Given the description of an element on the screen output the (x, y) to click on. 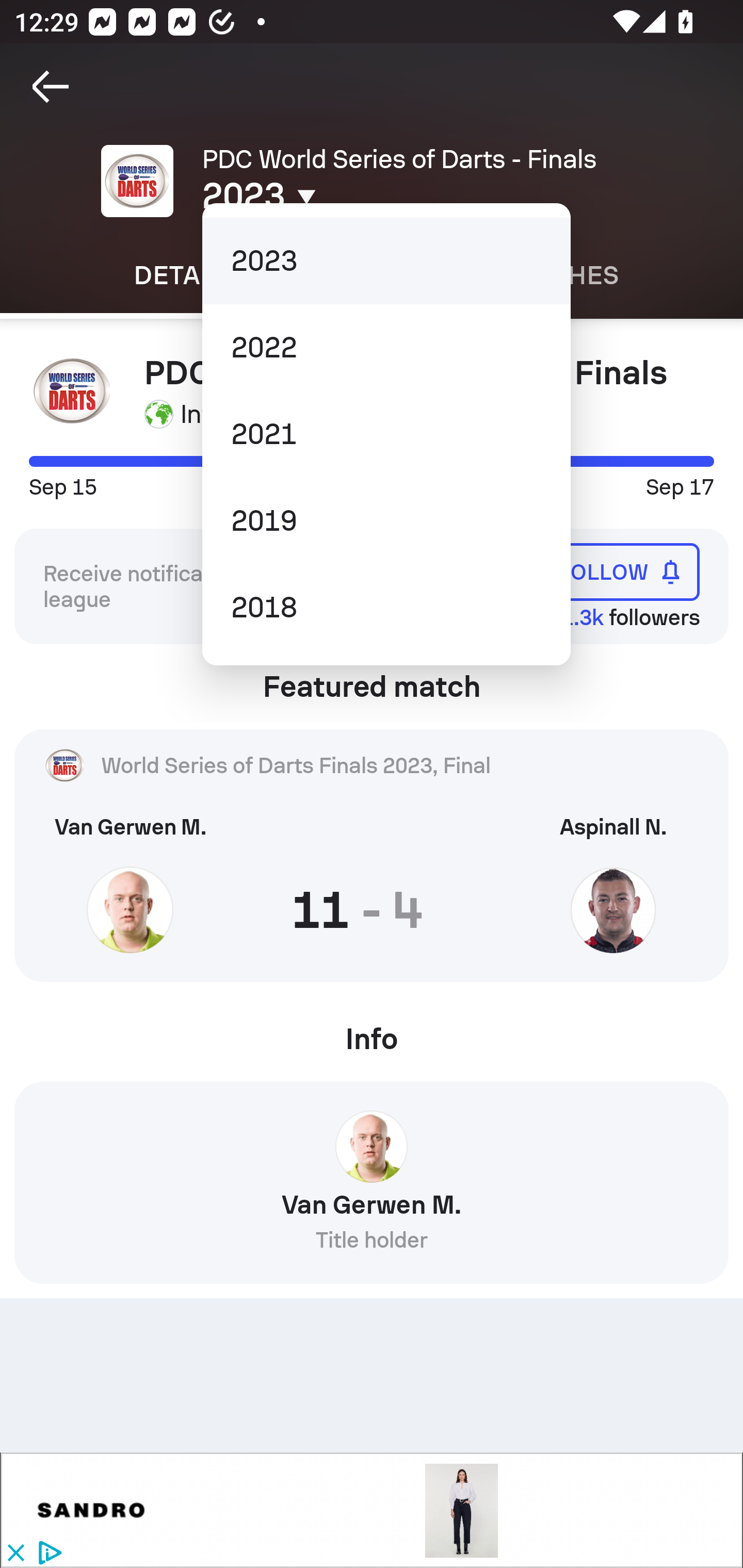
2023 (386, 260)
2022 (386, 347)
2021 (386, 434)
2019 (386, 521)
2018 (386, 607)
